Given the description of an element on the screen output the (x, y) to click on. 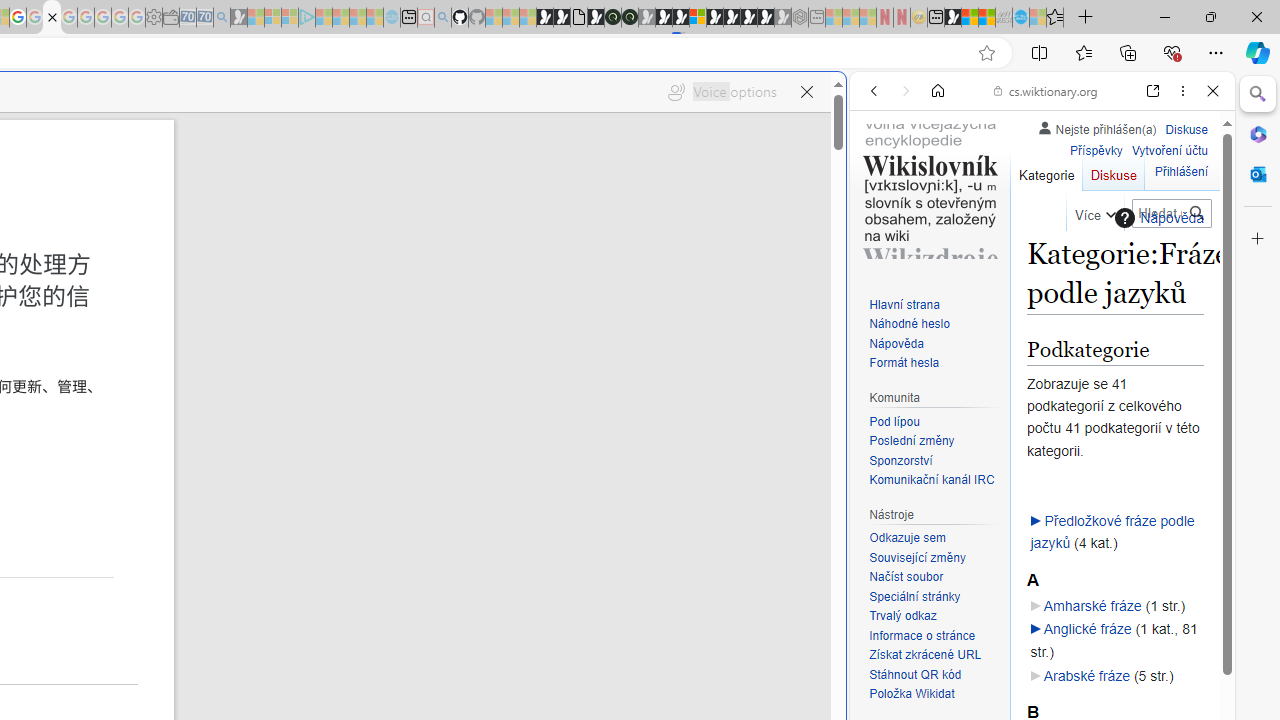
Earth has six continents not seven, radical new study claims (986, 17)
Navy Quest (1003, 17)
This site scope (936, 180)
Odkazuje sem (934, 538)
